Given the description of an element on the screen output the (x, y) to click on. 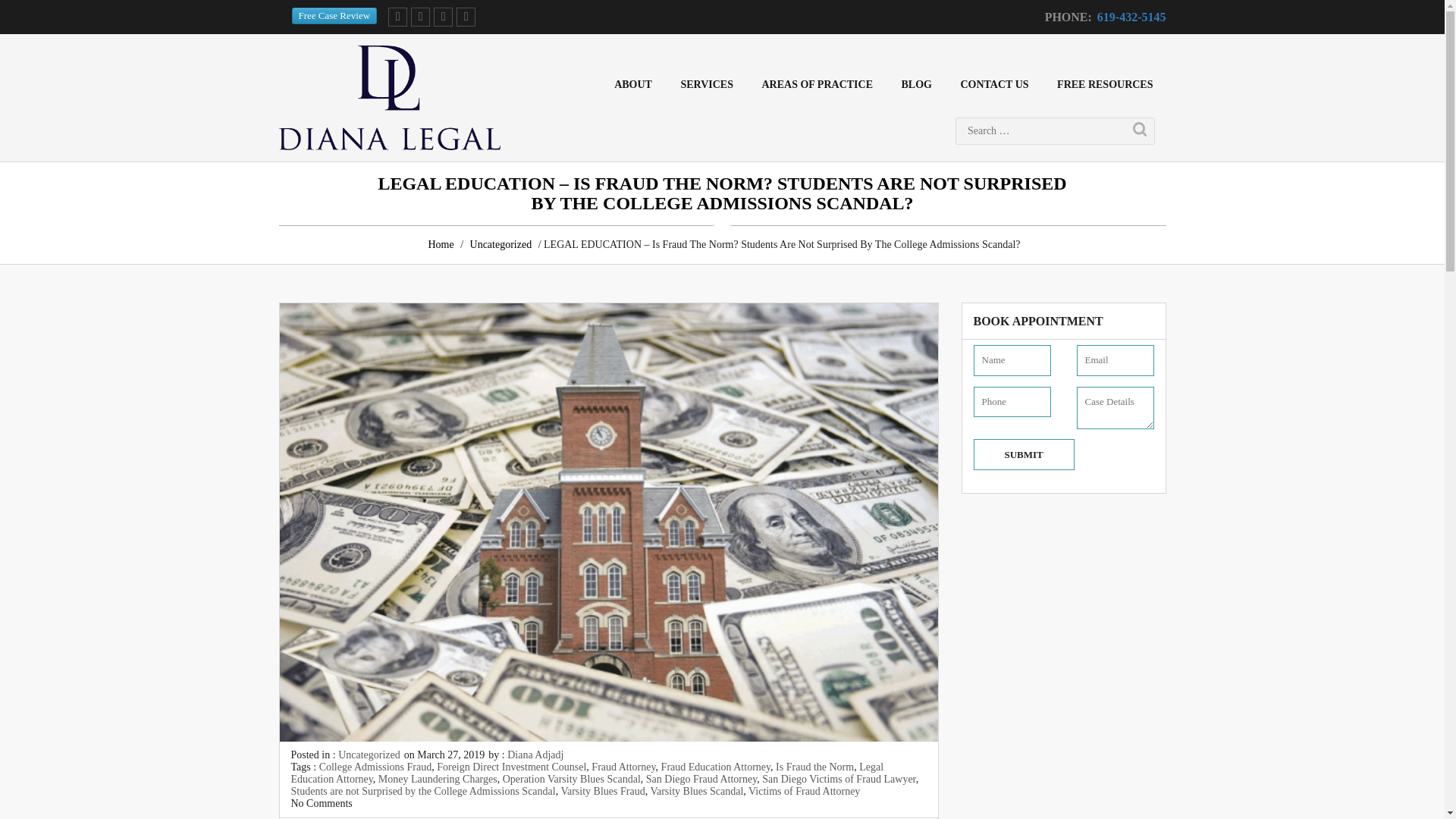
AREAS OF PRACTICE (816, 84)
Free Case Review (334, 15)
ABOUT (632, 84)
Search (1139, 130)
619-432-5145 (1131, 16)
BLOG (915, 84)
SUBMIT (1024, 454)
Search (1139, 130)
FREE RESOURCES (1104, 84)
View all posts by Diana Adjadj (534, 754)
CONTACT US (994, 84)
SERVICES (706, 84)
